Given the description of an element on the screen output the (x, y) to click on. 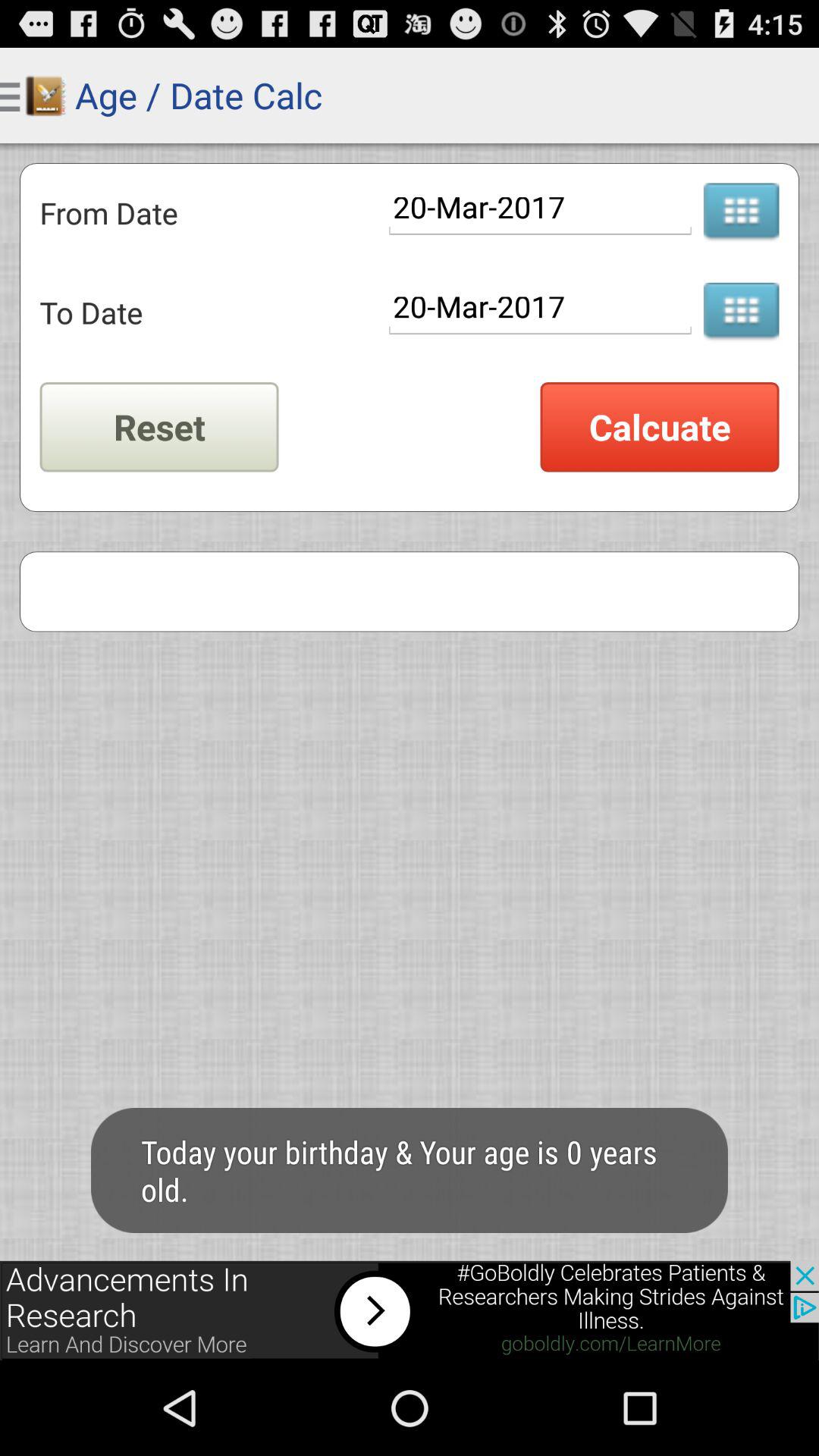
open calendar (741, 312)
